Given the description of an element on the screen output the (x, y) to click on. 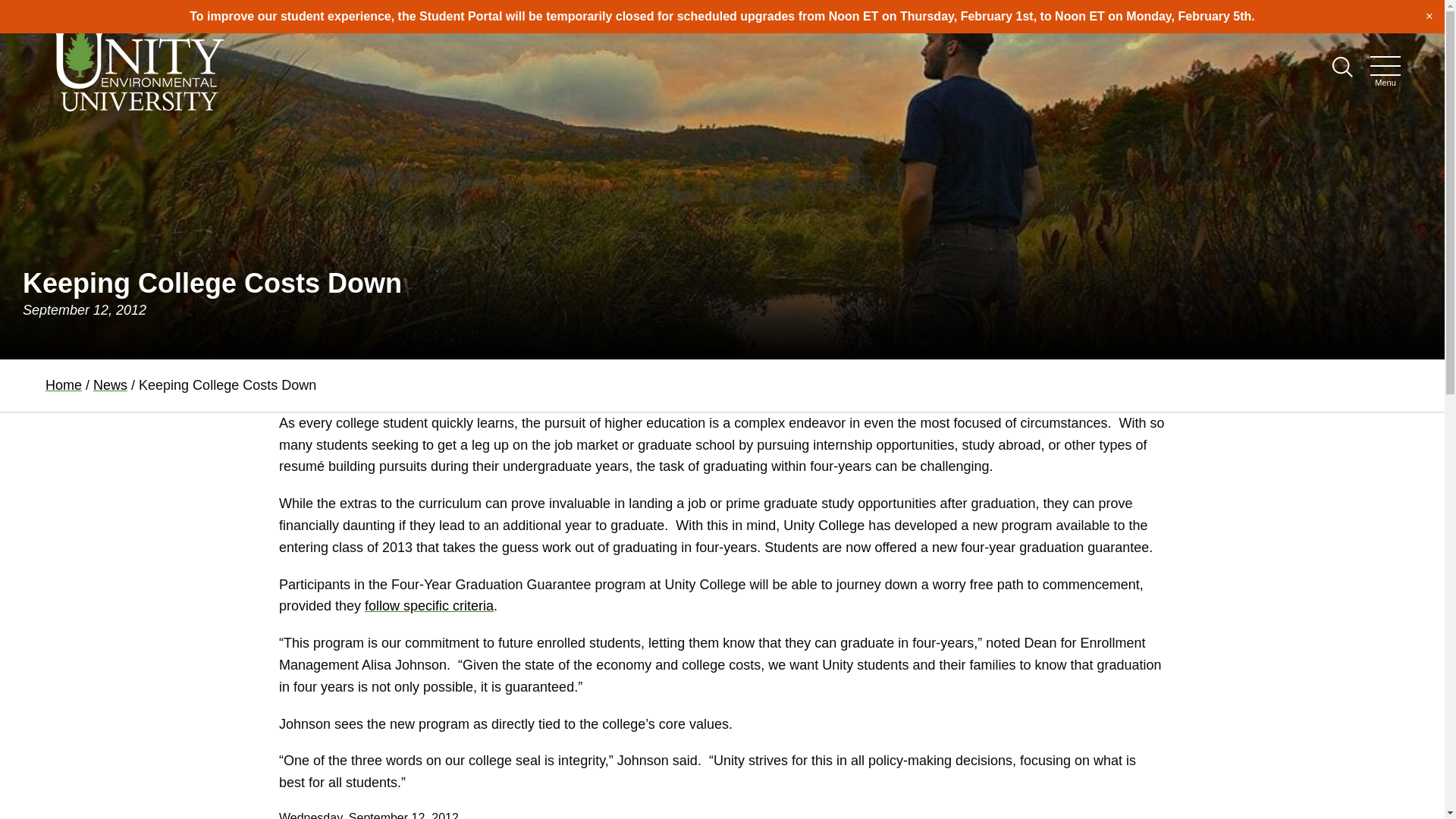
Go to News. (110, 385)
Open Menu (1385, 66)
Go to Unity Environmental University. (63, 385)
Unity Environmental University (137, 66)
